Given the description of an element on the screen output the (x, y) to click on. 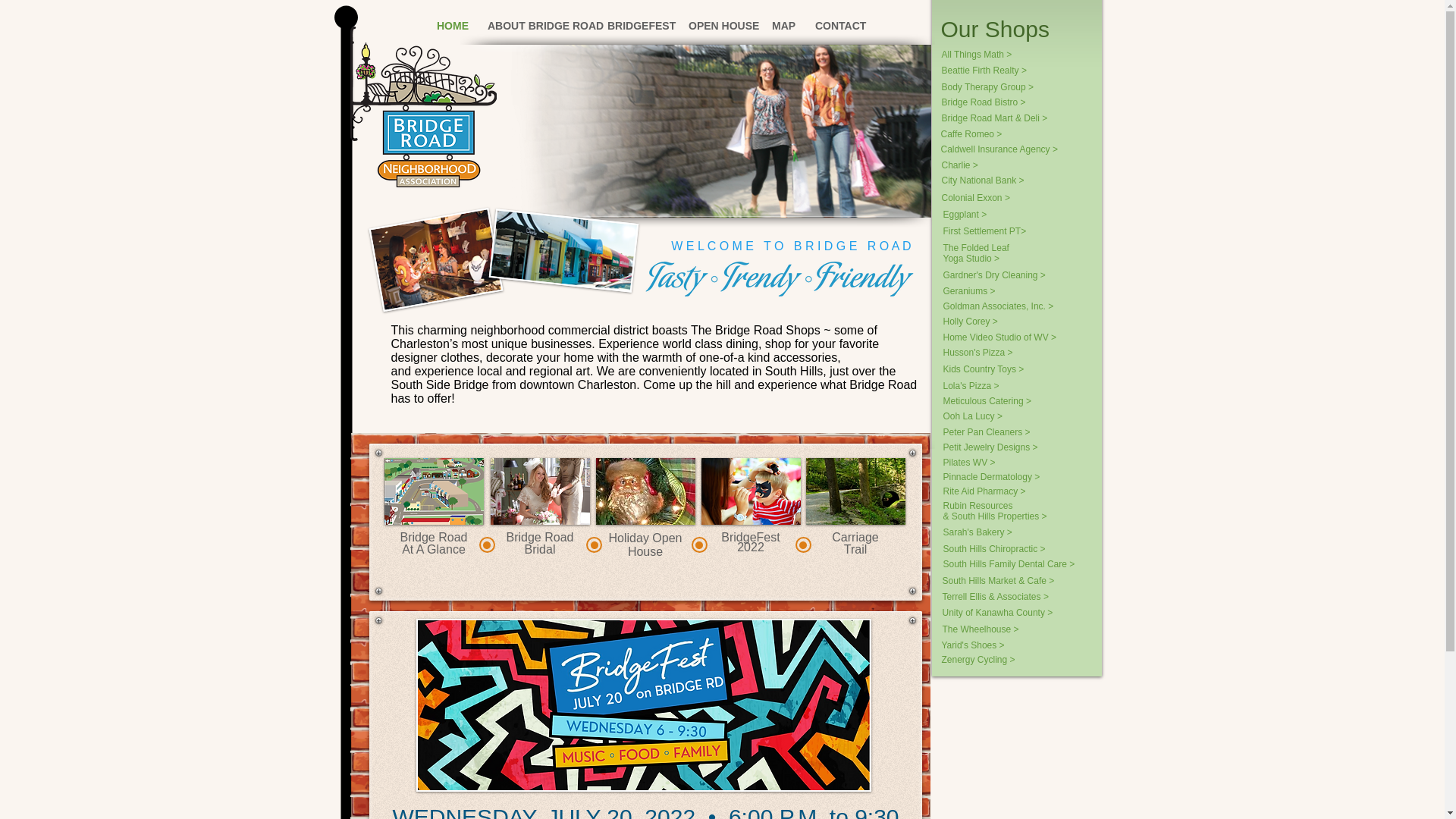
santa.jpg (645, 490)
CONTACT (835, 25)
Bridge Road (539, 536)
The Folded Leaf (981, 247)
MAP (645, 544)
HOME (781, 25)
2022 (450, 25)
BRIDGEFEST (750, 546)
ABOUT BRIDGE ROAD (636, 25)
Brick (535, 25)
Bridal (433, 536)
OPEN HOUSE (540, 549)
BridgeFest (718, 25)
